Given the description of an element on the screen output the (x, y) to click on. 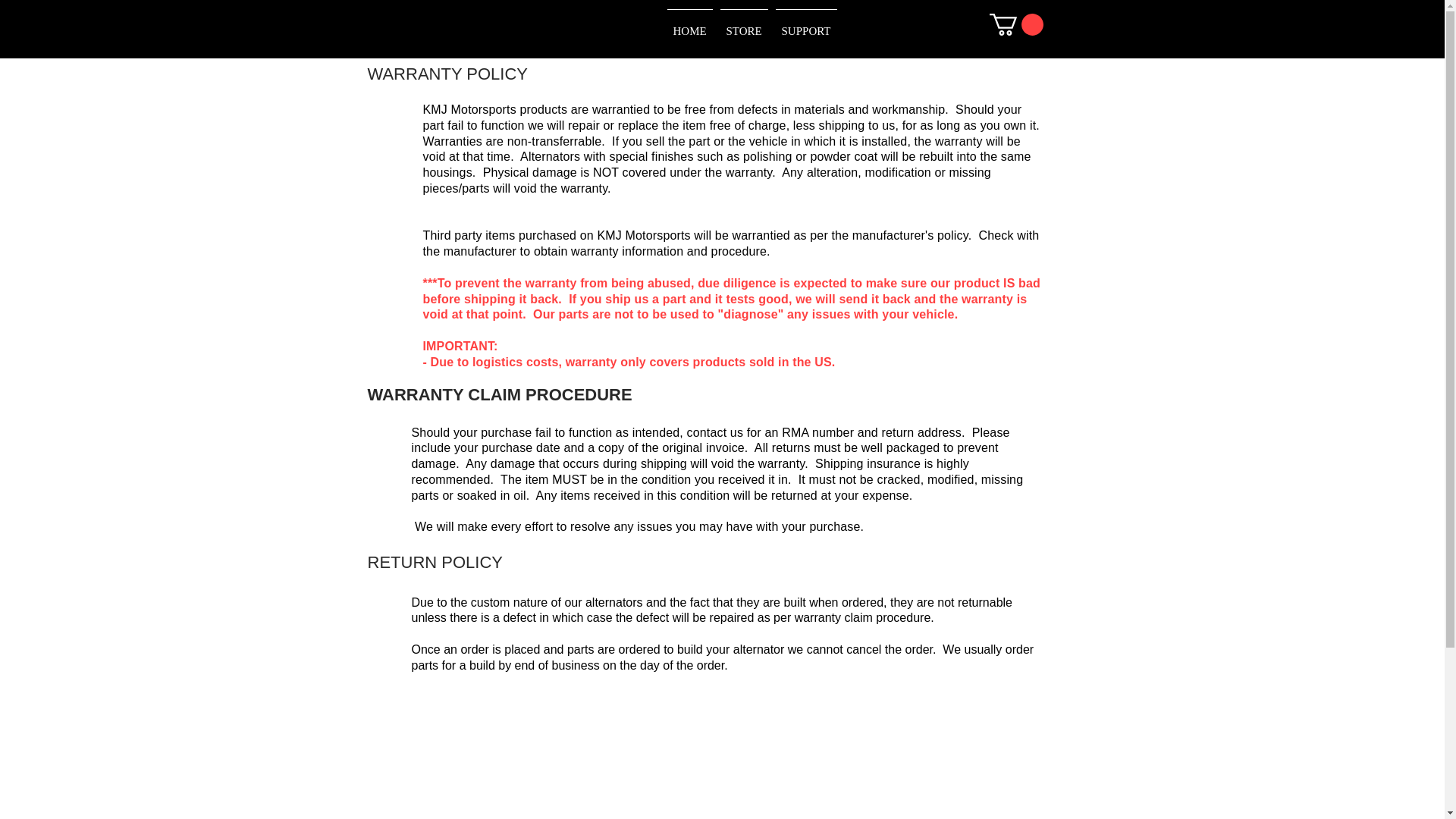
STORE (743, 24)
HOME (689, 24)
